Given the description of an element on the screen output the (x, y) to click on. 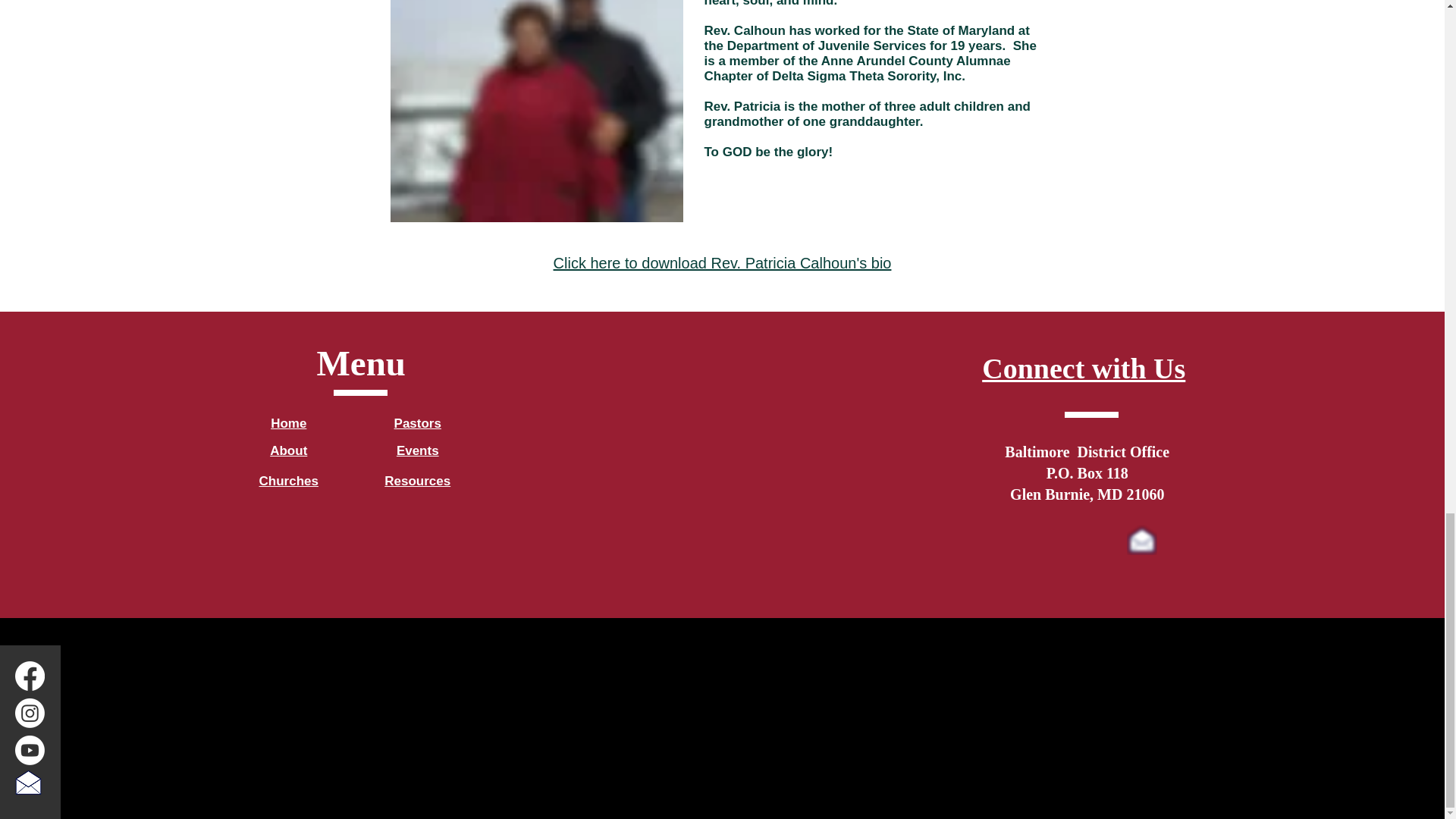
Home (287, 423)
Events (417, 450)
Connect with Us (1083, 368)
Click here to download Rev. Patricia Calhoun's bio (722, 262)
Resources (416, 481)
About (288, 450)
Pastors (417, 423)
Churches (288, 481)
